Given the description of an element on the screen output the (x, y) to click on. 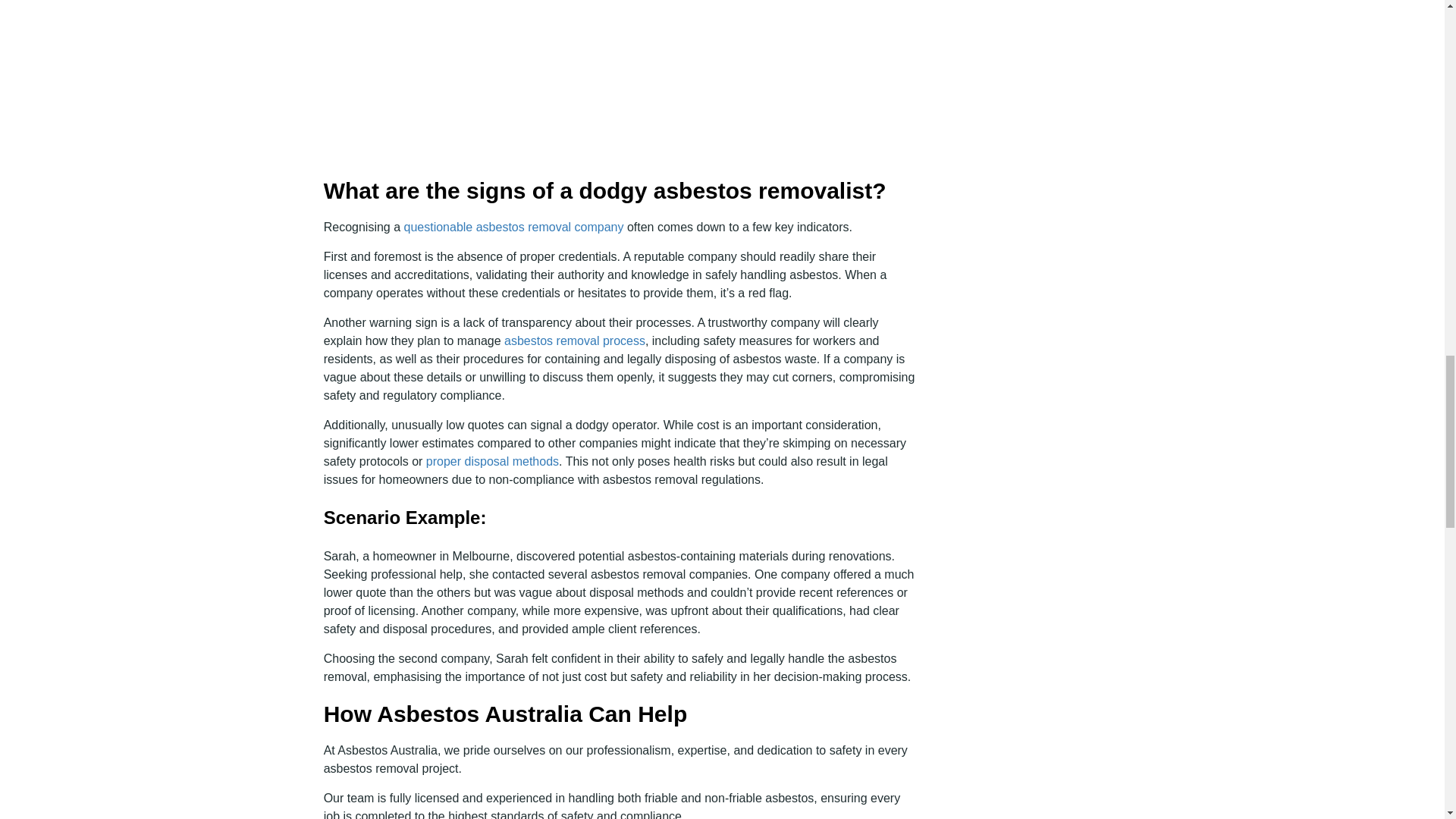
questionable asbestos removal company (514, 226)
asbestos removal process (574, 340)
proper disposal methods (492, 461)
